Given the description of an element on the screen output the (x, y) to click on. 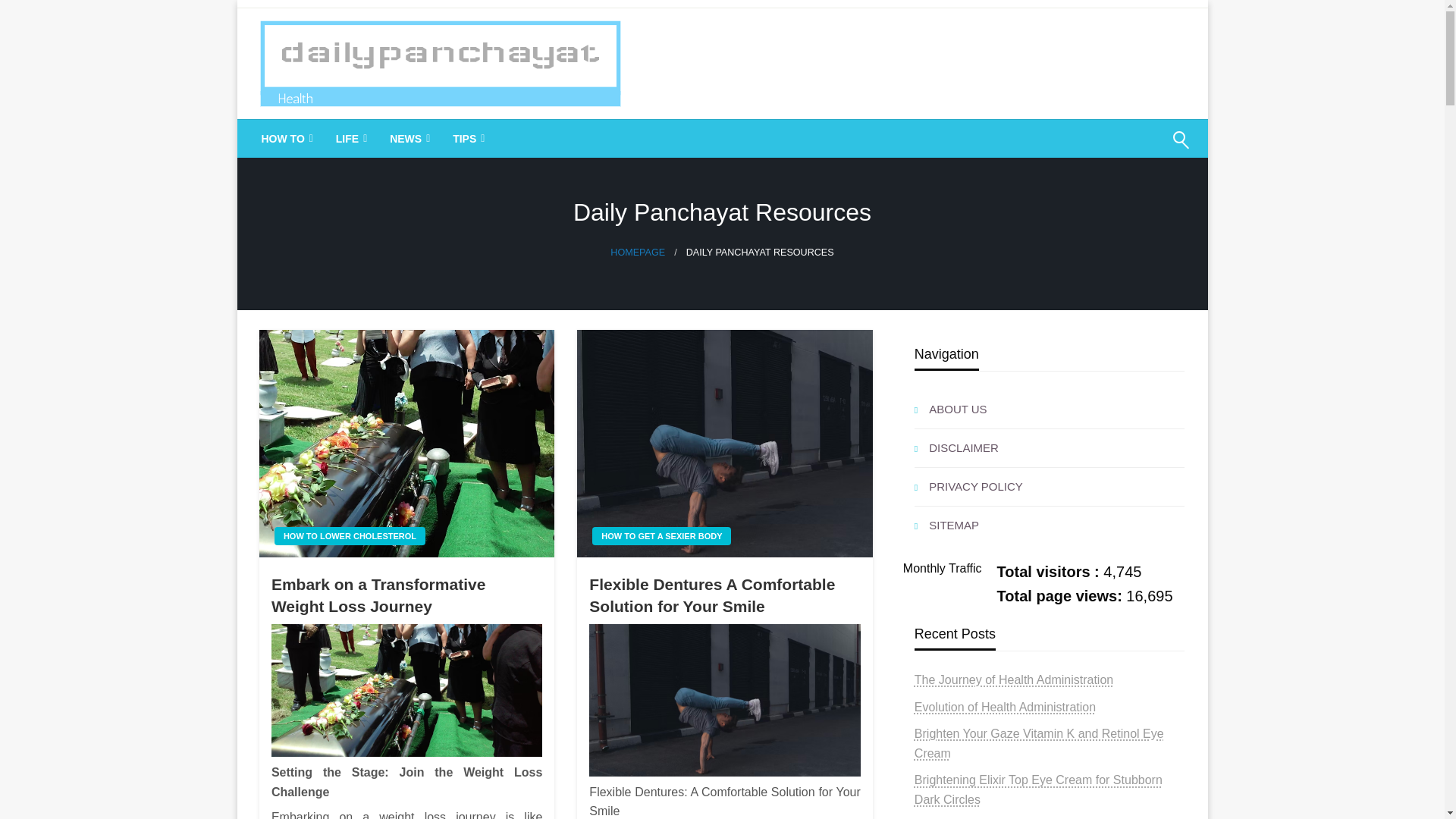
TIPS (467, 138)
dailypanchayat (357, 138)
Flexible Dentures A Comfortable Solution for Your Smile (724, 595)
LIFE (350, 138)
NEWS (408, 138)
HOW TO (285, 138)
HOW TO LOWER CHOLESTEROL (350, 536)
Search (1144, 149)
Embark on a Transformative Weight Loss Journey (405, 595)
Homepage (637, 252)
HOW TO GET A SEXIER BODY (661, 536)
HOMEPAGE (637, 252)
